Given the description of an element on the screen output the (x, y) to click on. 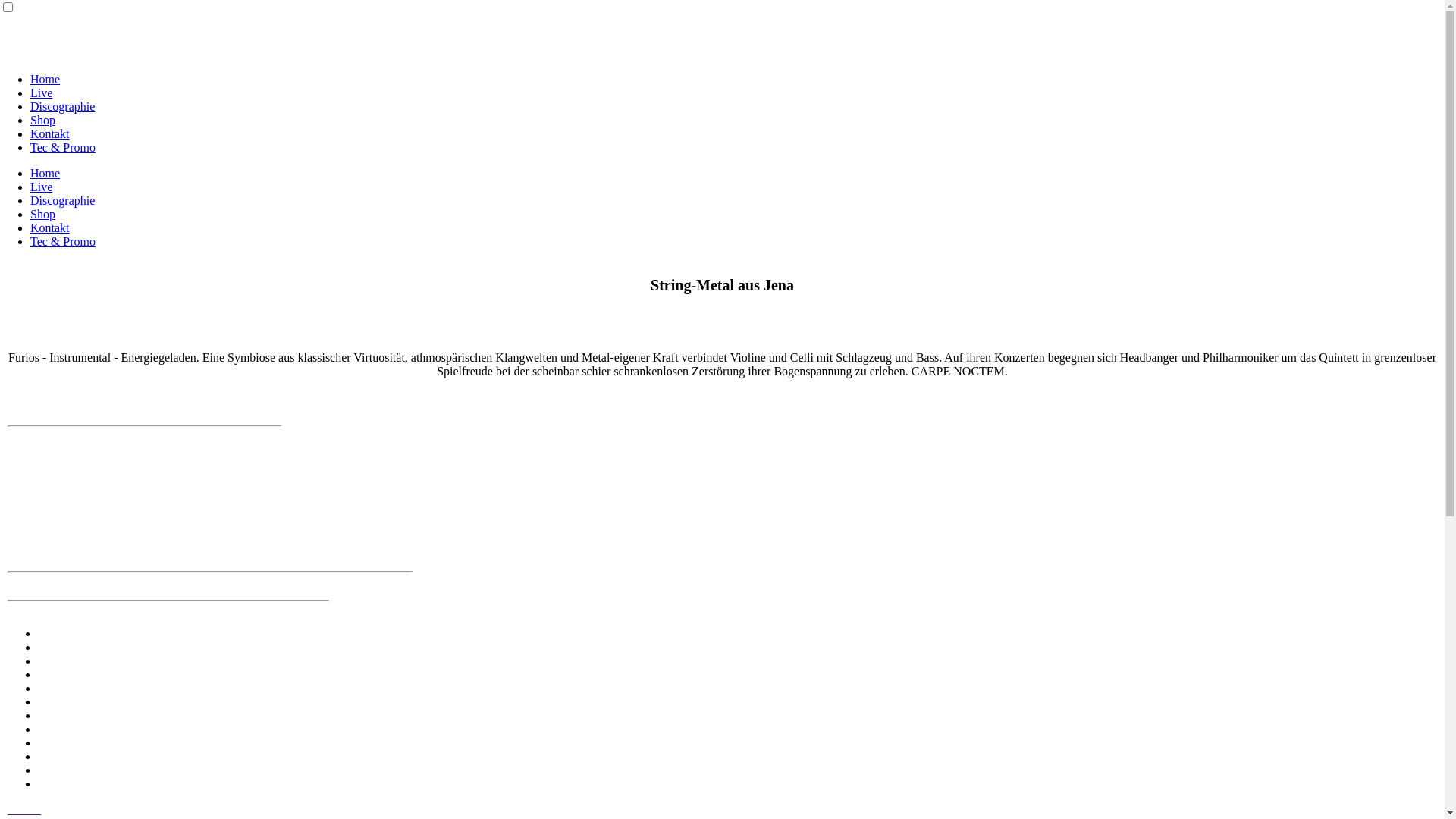
Kontakt Element type: text (49, 227)
Live Element type: text (41, 186)
Live Element type: text (41, 92)
Discographie Element type: text (62, 200)
Kontakt Element type: text (49, 133)
Tec & Promo Element type: text (62, 241)
Tec & Promo Element type: text (62, 147)
Home Element type: text (44, 78)
Discographie Element type: text (62, 106)
Home Element type: text (44, 172)
Shop Element type: text (42, 213)
Shop Element type: text (42, 119)
